Given the description of an element on the screen output the (x, y) to click on. 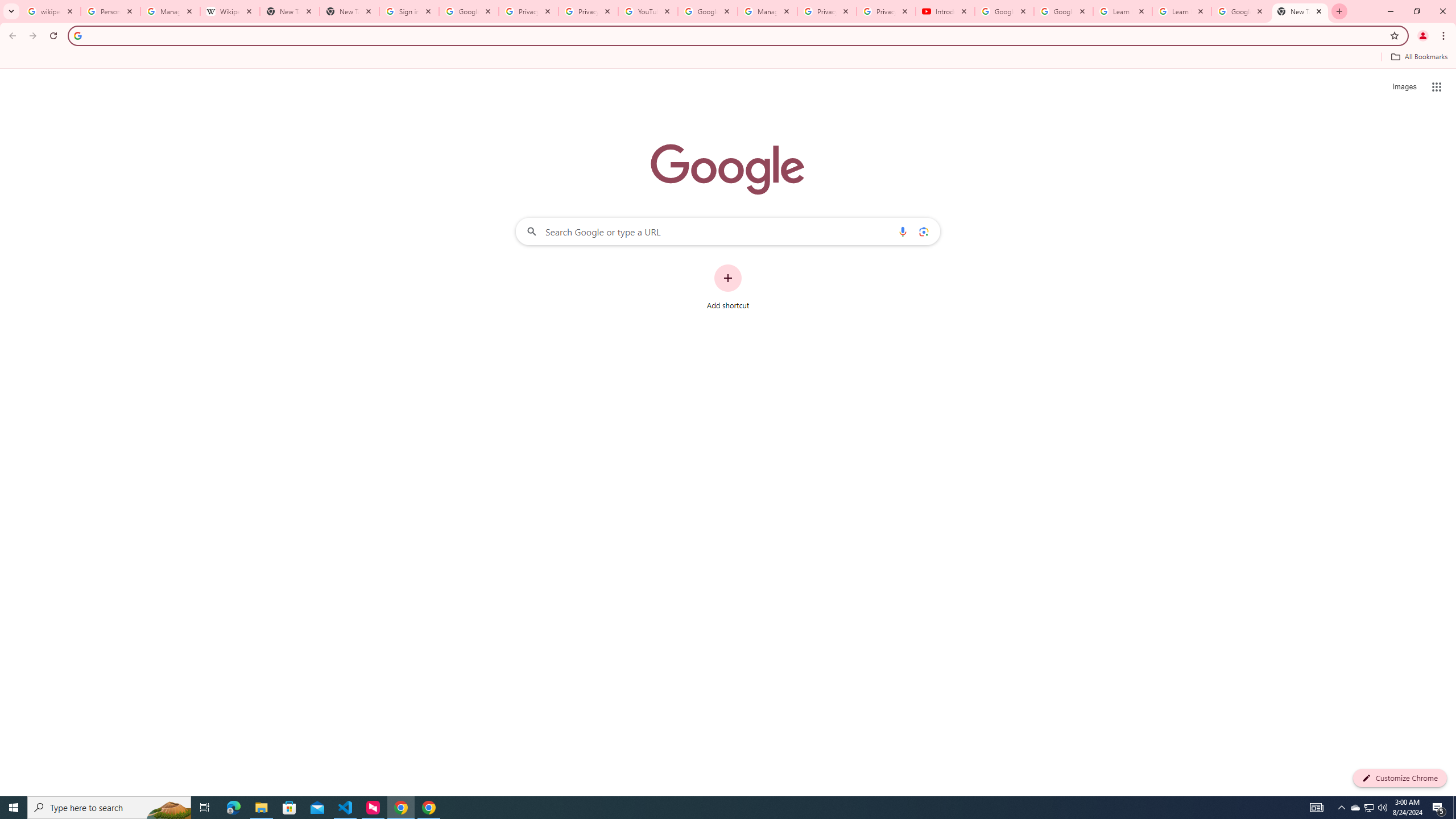
New Tab (1300, 11)
Add shortcut (727, 287)
Google Account Help (1063, 11)
Search by image (922, 230)
Search icon (77, 35)
Personalization & Google Search results - Google Search Help (110, 11)
